Given the description of an element on the screen output the (x, y) to click on. 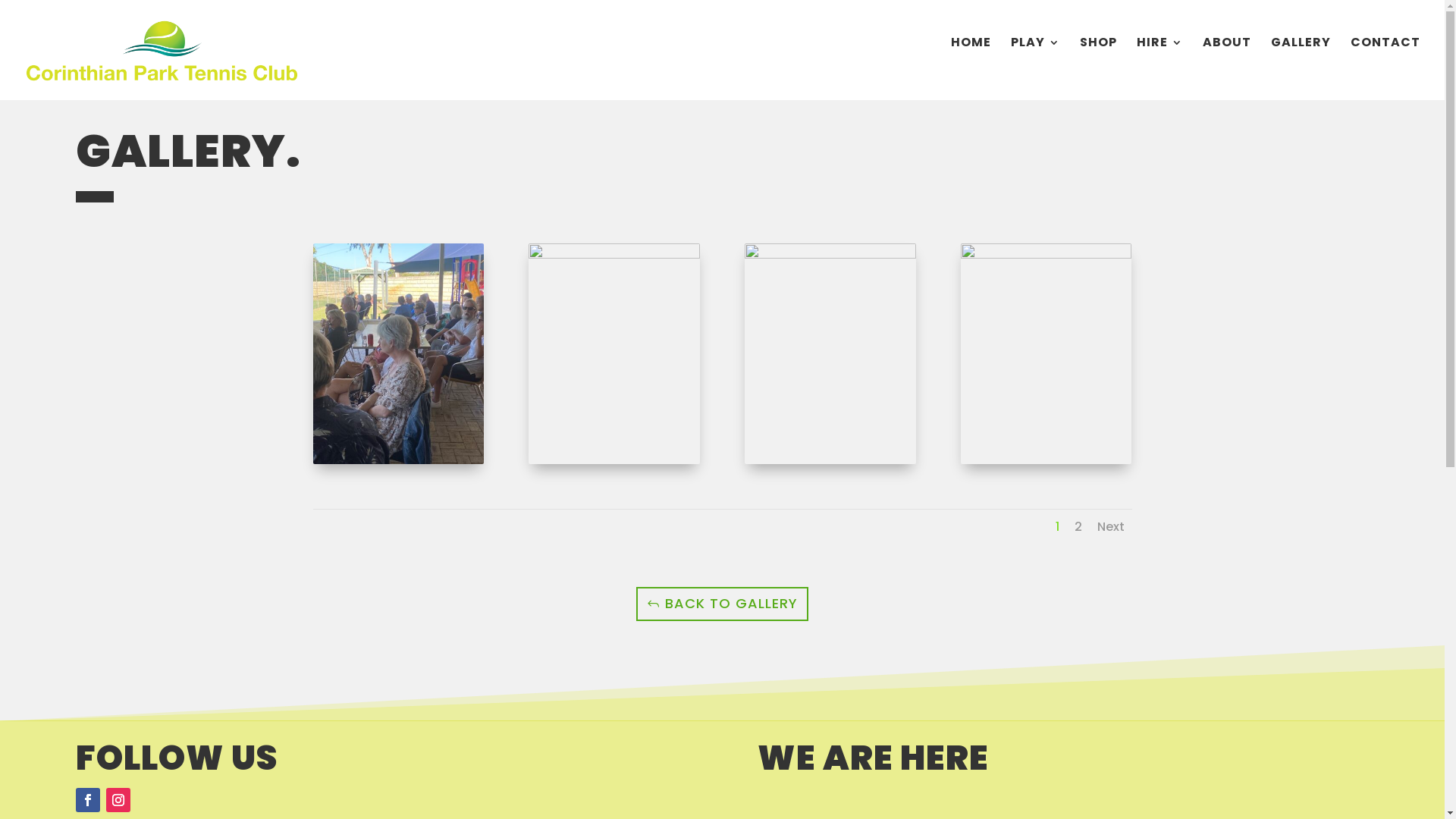
BACK TO GALLERY Element type: text (722, 603)
IMG_0155 Element type: hover (1045, 463)
IMG_0324 Element type: hover (829, 463)
HOME Element type: text (970, 60)
IMG_0327 Element type: hover (397, 463)
2 Element type: text (1077, 526)
Next Element type: text (1109, 526)
ABOUT Element type: text (1226, 60)
GALLERY Element type: text (1300, 60)
1 Element type: text (1057, 526)
CONTACT Element type: text (1385, 60)
SHOP Element type: text (1098, 60)
HIRE Element type: text (1159, 60)
Follow on Instagram Element type: hover (118, 799)
PLAY Element type: text (1035, 60)
IMG_0326 Element type: hover (613, 463)
Follow on Facebook Element type: hover (87, 799)
